Given the description of an element on the screen output the (x, y) to click on. 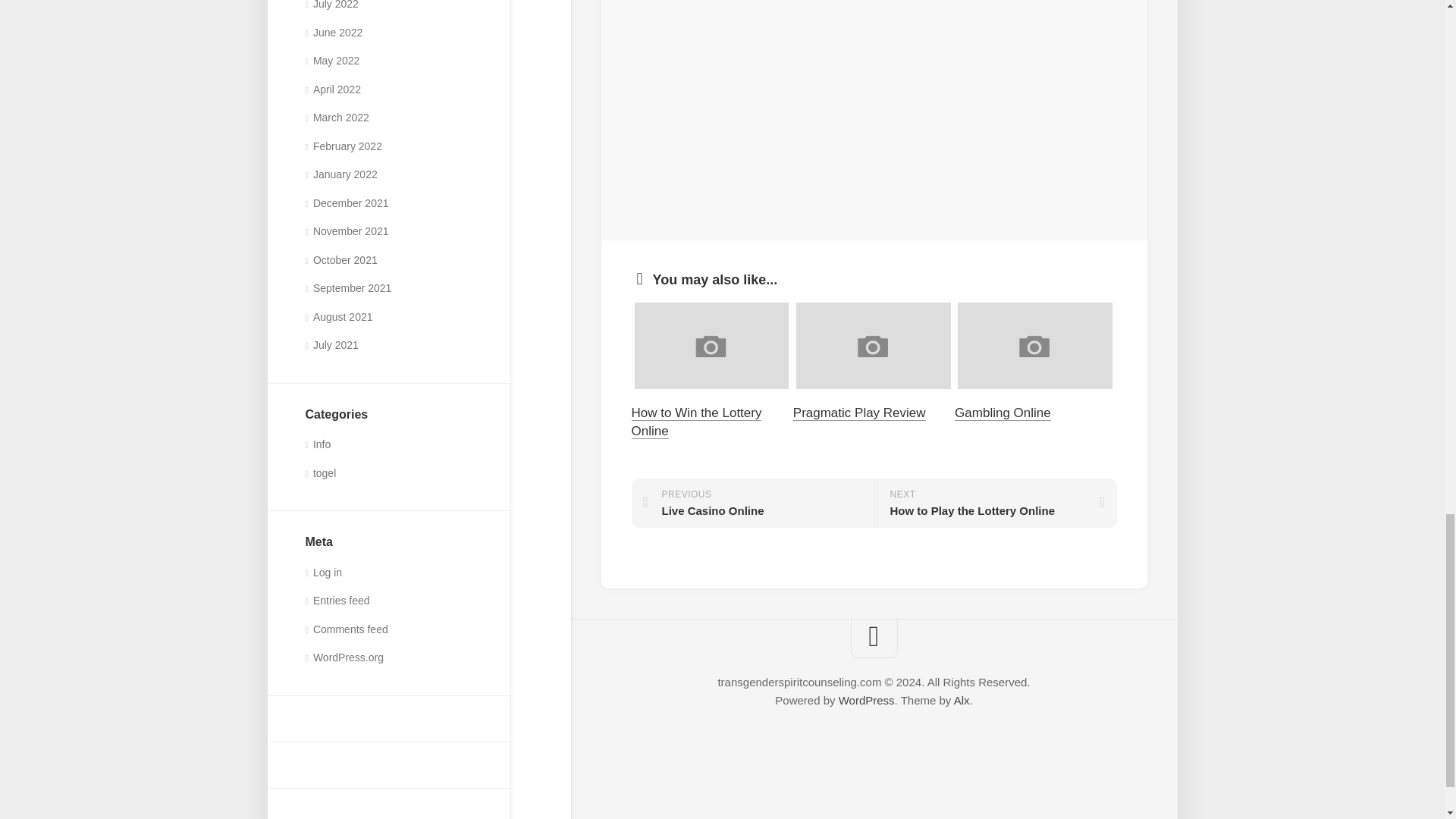
June 2022 (333, 32)
April 2022 (331, 89)
May 2022 (331, 60)
July 2022 (331, 4)
